Given the description of an element on the screen output the (x, y) to click on. 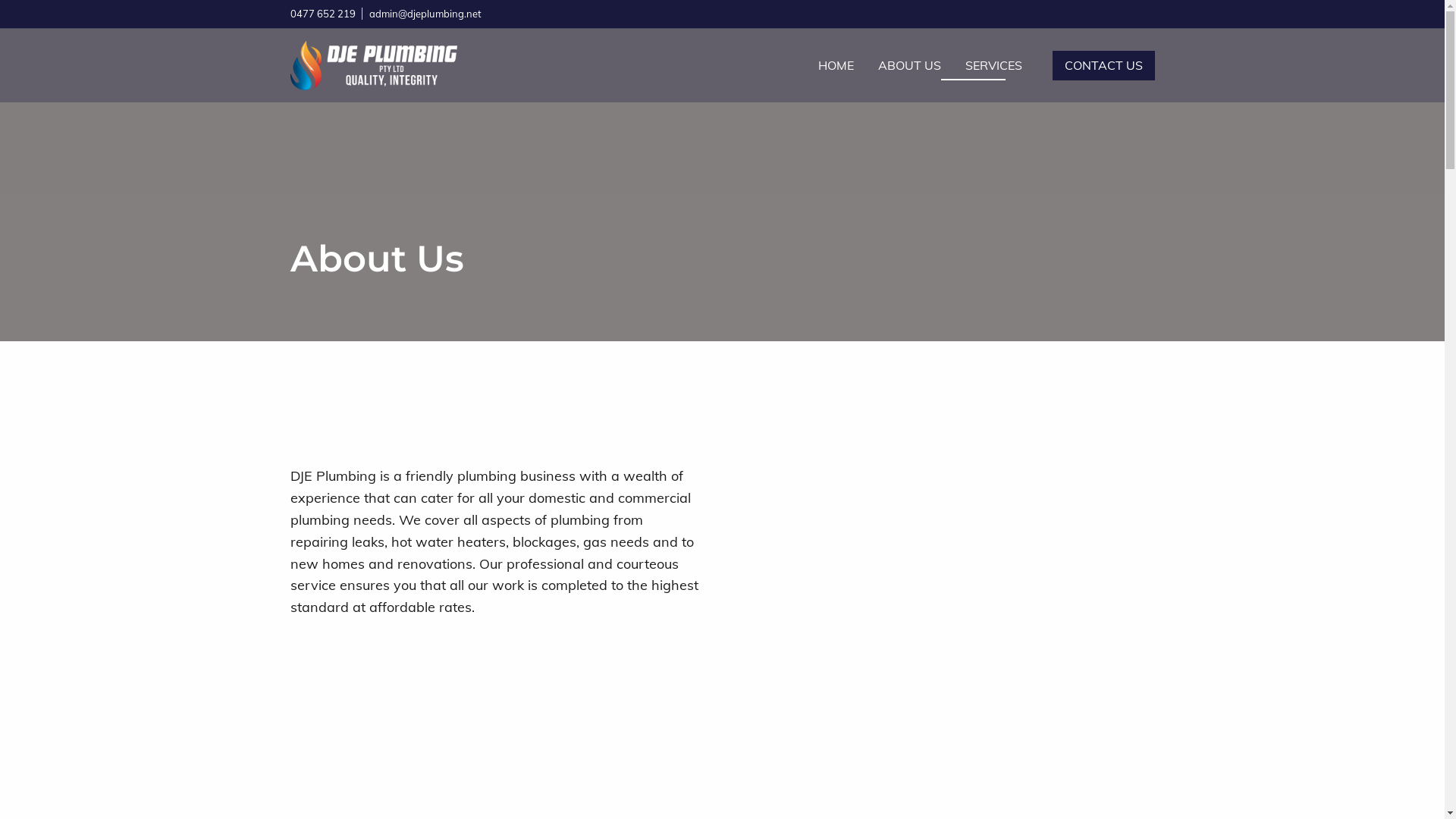
SERVICES Element type: text (992, 64)
HOME Element type: text (835, 64)
ABOUT US Element type: text (909, 64)
0477 652 219 Element type: text (321, 13)
admin@djeplumbing.net Element type: text (424, 13)
CONTACT US Element type: text (1103, 64)
